Given the description of an element on the screen output the (x, y) to click on. 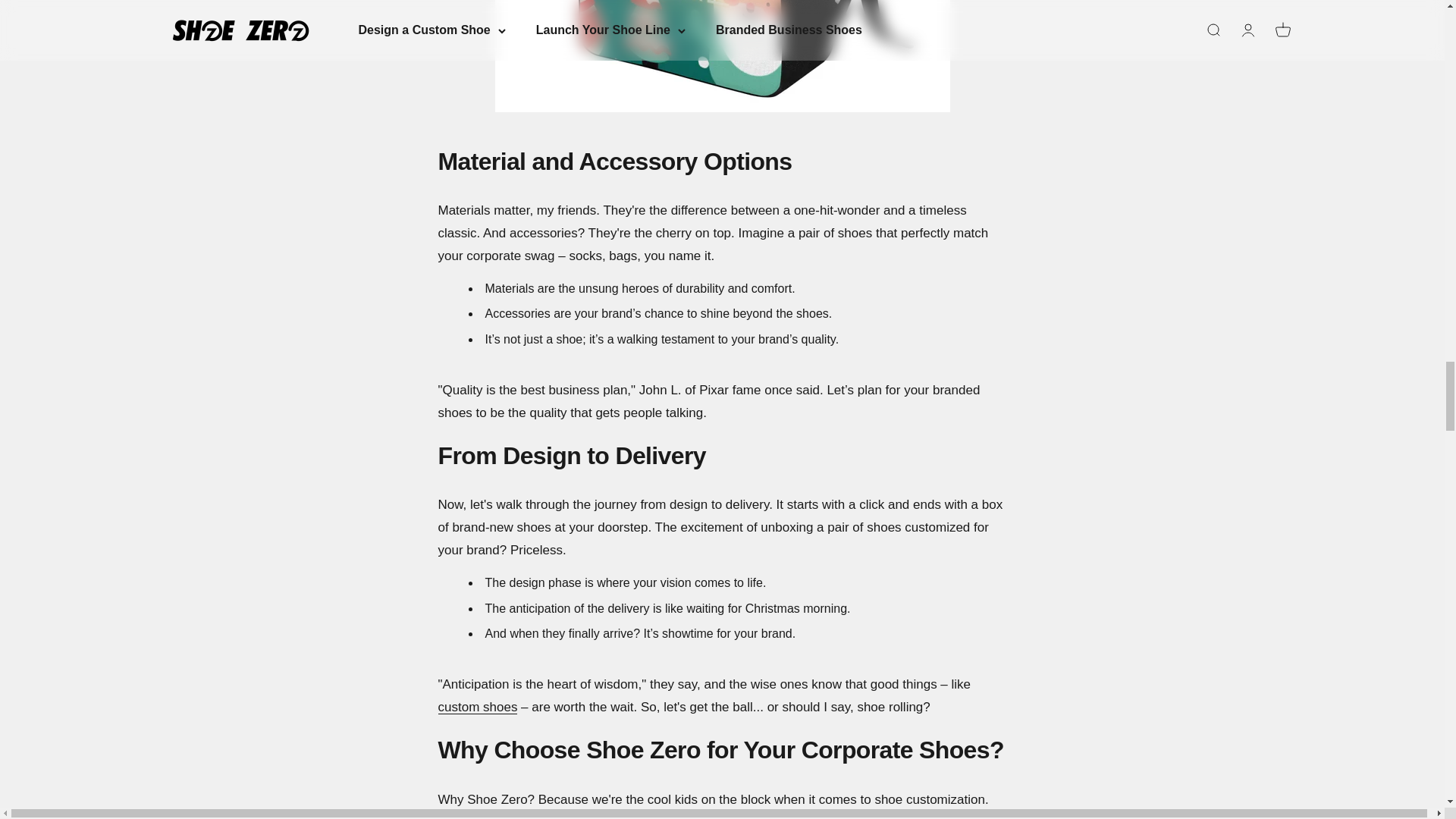
custom shoes (478, 707)
